Given the description of an element on the screen output the (x, y) to click on. 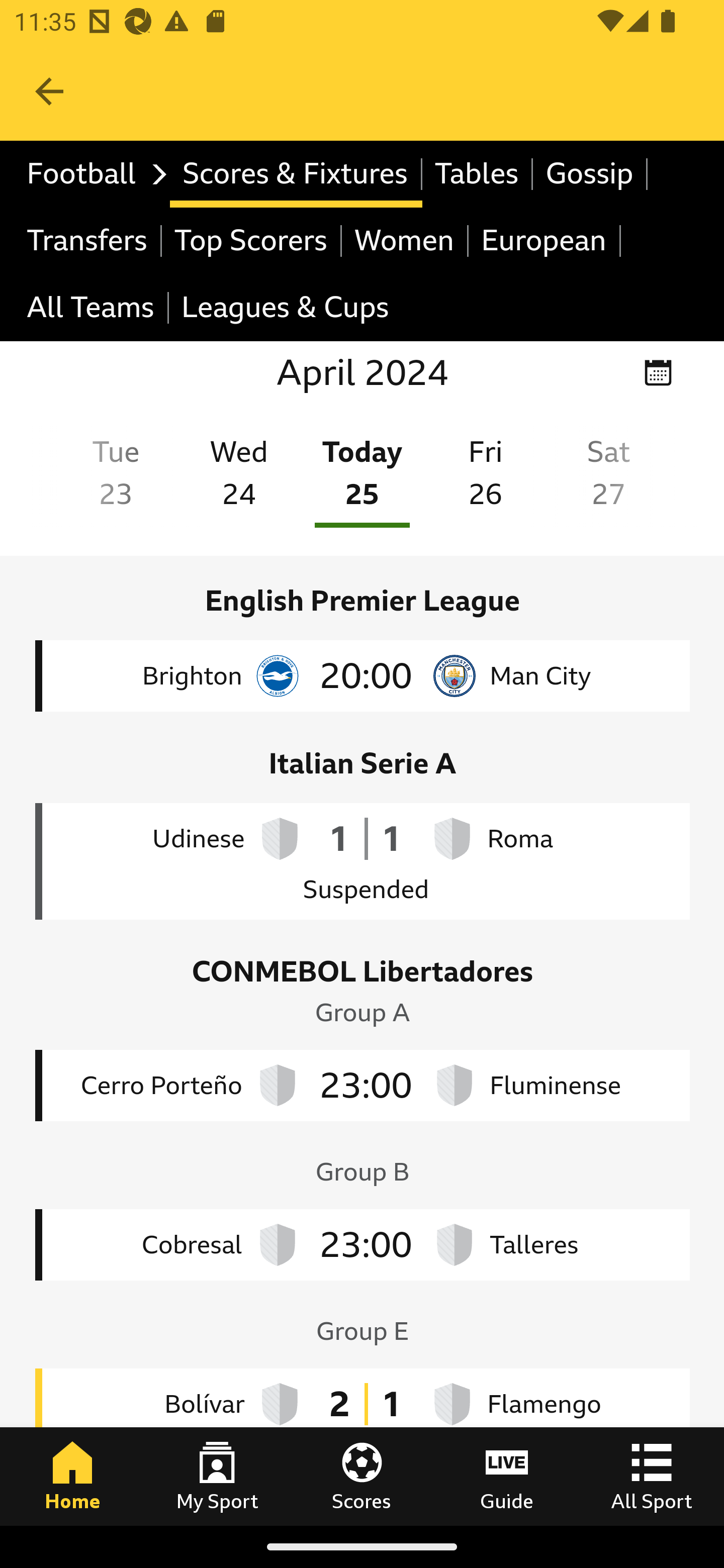
Navigate up (49, 91)
Football (91, 173)
Scores & Fixtures (295, 173)
Tables (477, 173)
Gossip (590, 173)
Transfers (88, 240)
Top Scorers (251, 240)
Women (405, 240)
European (544, 240)
All Teams (91, 308)
Leagues & Cups (284, 308)
My Sport (216, 1475)
Scores (361, 1475)
Guide (506, 1475)
All Sport (651, 1475)
